Given the description of an element on the screen output the (x, y) to click on. 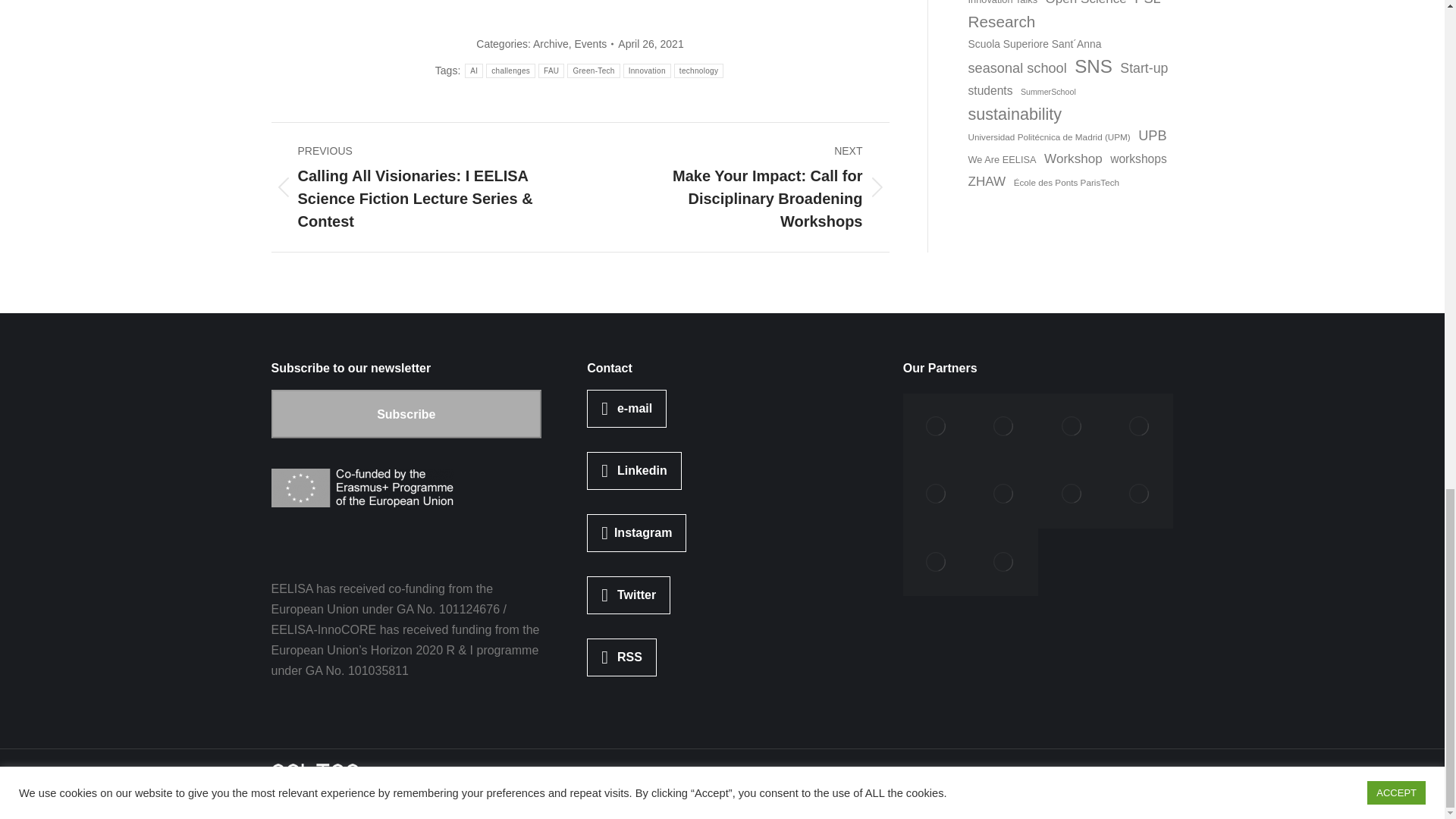
10:53 am (649, 44)
Scuola Normale Superiore (936, 494)
Subscribe (405, 413)
